Given the description of an element on the screen output the (x, y) to click on. 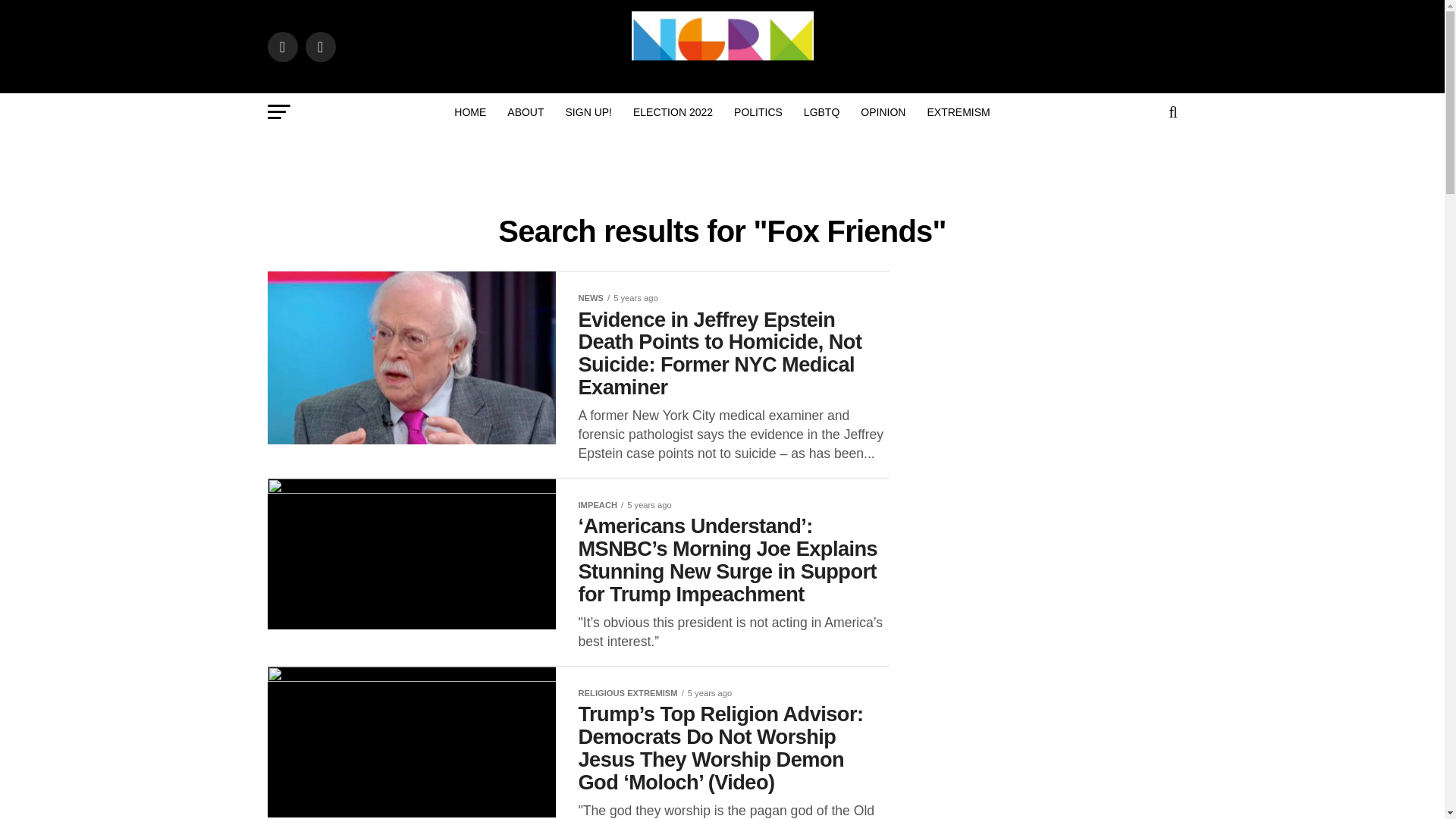
SIGN UP! (588, 112)
POLITICS (758, 112)
LGBTQ (821, 112)
ELECTION 2022 (673, 112)
EXTREMISM (957, 112)
HOME (470, 112)
OPINION (882, 112)
ABOUT (525, 112)
